Given the description of an element on the screen output the (x, y) to click on. 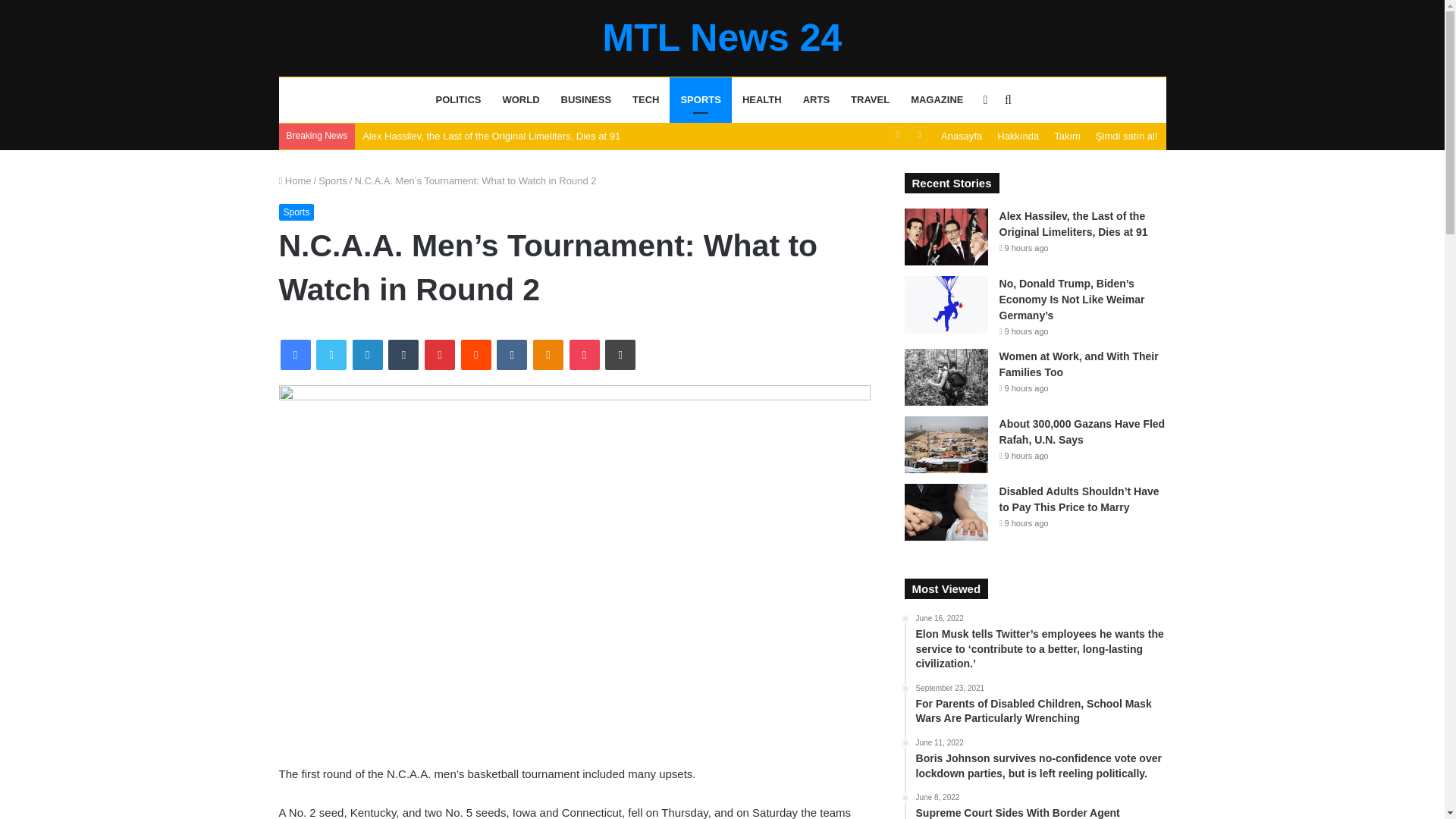
LinkedIn (367, 354)
Pocket (583, 354)
POLITICS (458, 99)
TRAVEL (869, 99)
TECH (645, 99)
Print (619, 354)
Reddit (476, 354)
ARTS (816, 99)
LinkedIn (367, 354)
Tumblr (403, 354)
Pinterest (439, 354)
Odnoklassniki (547, 354)
Sports (332, 180)
Facebook (296, 354)
Twitter (330, 354)
